Given the description of an element on the screen output the (x, y) to click on. 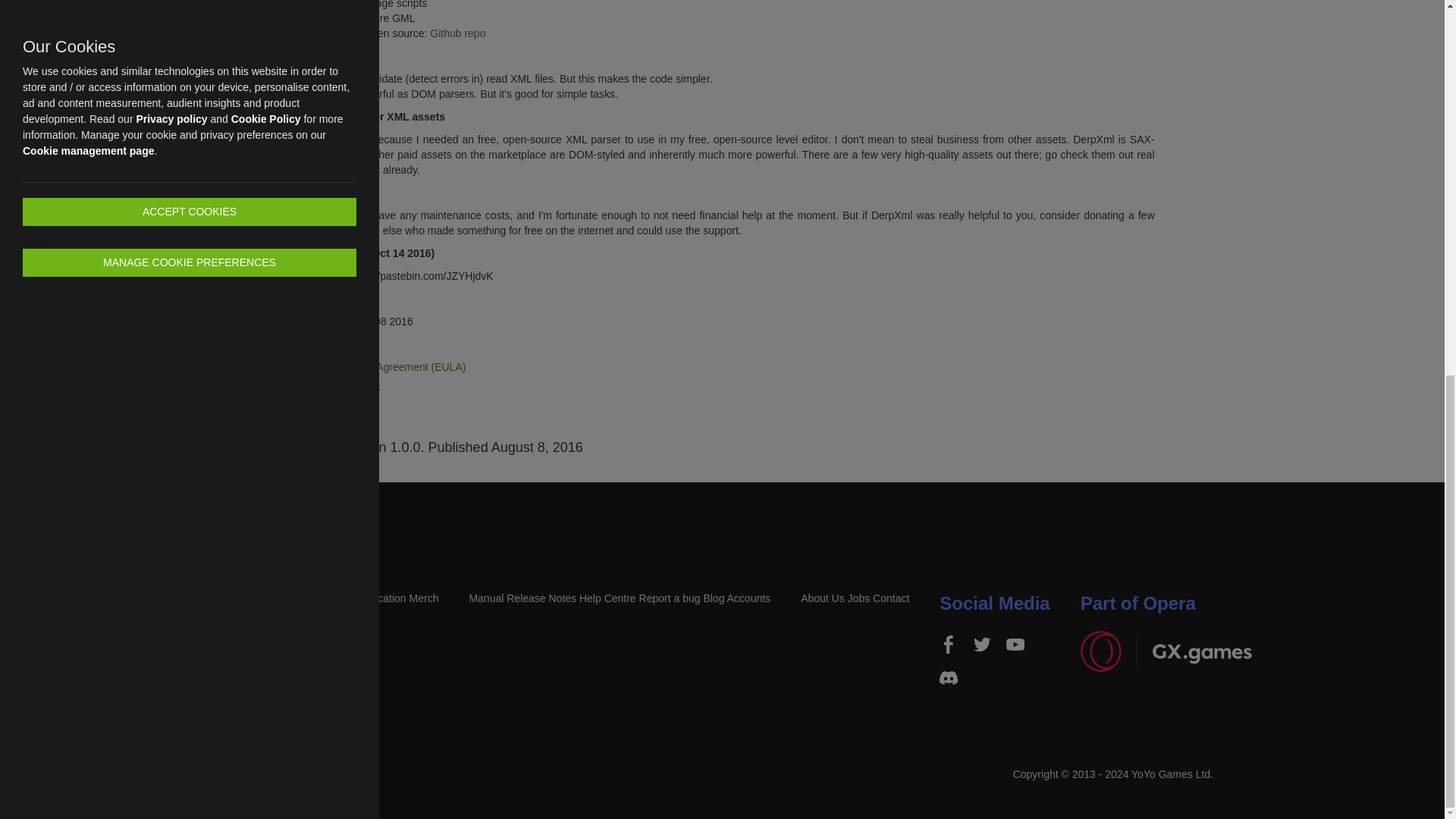
Pricing (160, 598)
Marketplace (208, 598)
Download (73, 598)
Support (619, 598)
Roadmap (334, 598)
Features (120, 598)
Asset Bundles (273, 598)
Team (854, 598)
GameMaker (243, 598)
Github repo (456, 33)
